Given the description of an element on the screen output the (x, y) to click on. 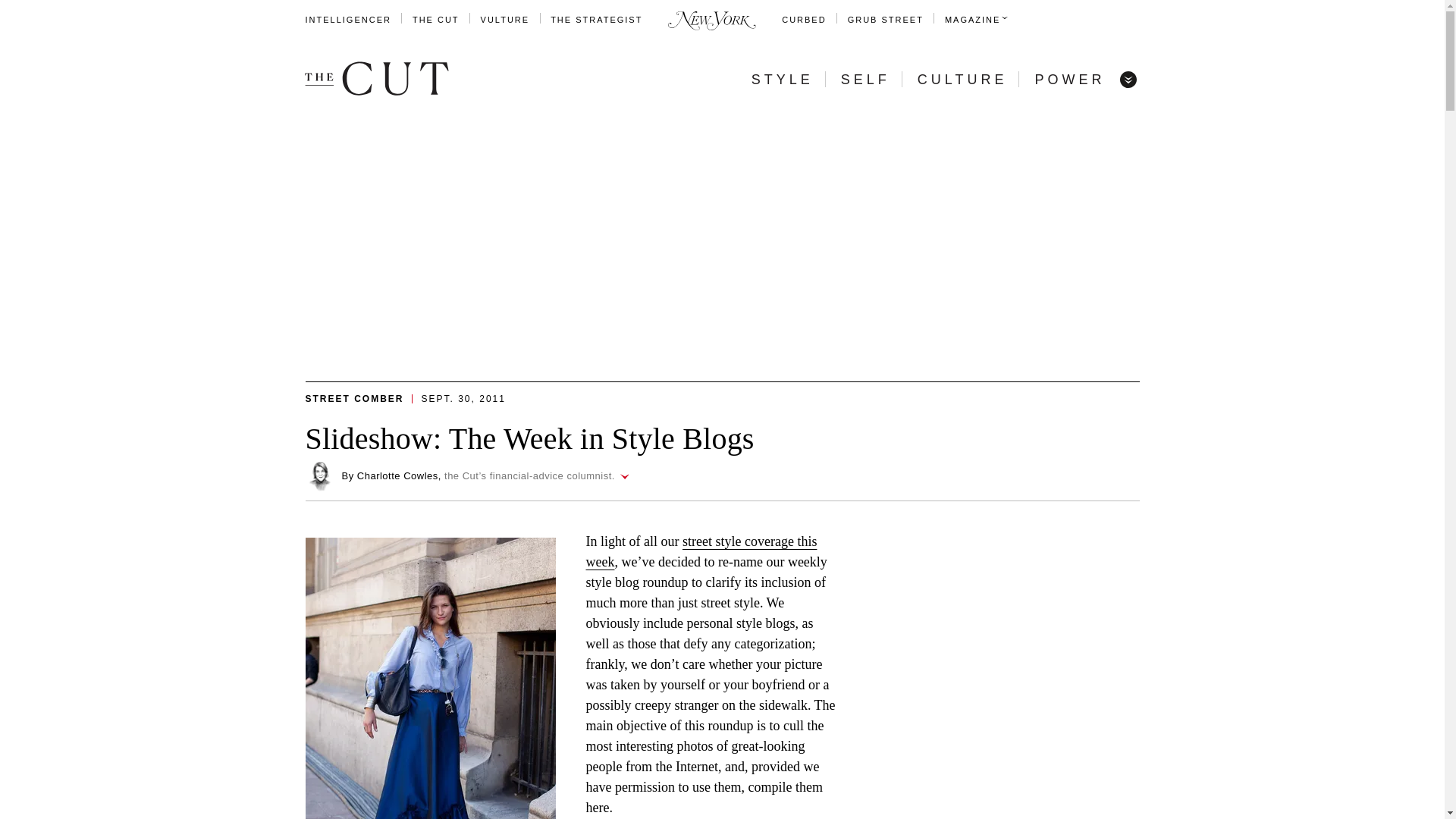
POWER (1069, 79)
THE STRATEGIST (596, 19)
THE CUT (436, 19)
STYLE (782, 79)
CURBED (803, 19)
CULTURE (962, 79)
MAGAZINE (972, 19)
INTELLIGENCER (347, 19)
GRUB STREET (885, 19)
Menu (1127, 78)
SELF (865, 79)
VULTURE (504, 19)
